Given the description of an element on the screen output the (x, y) to click on. 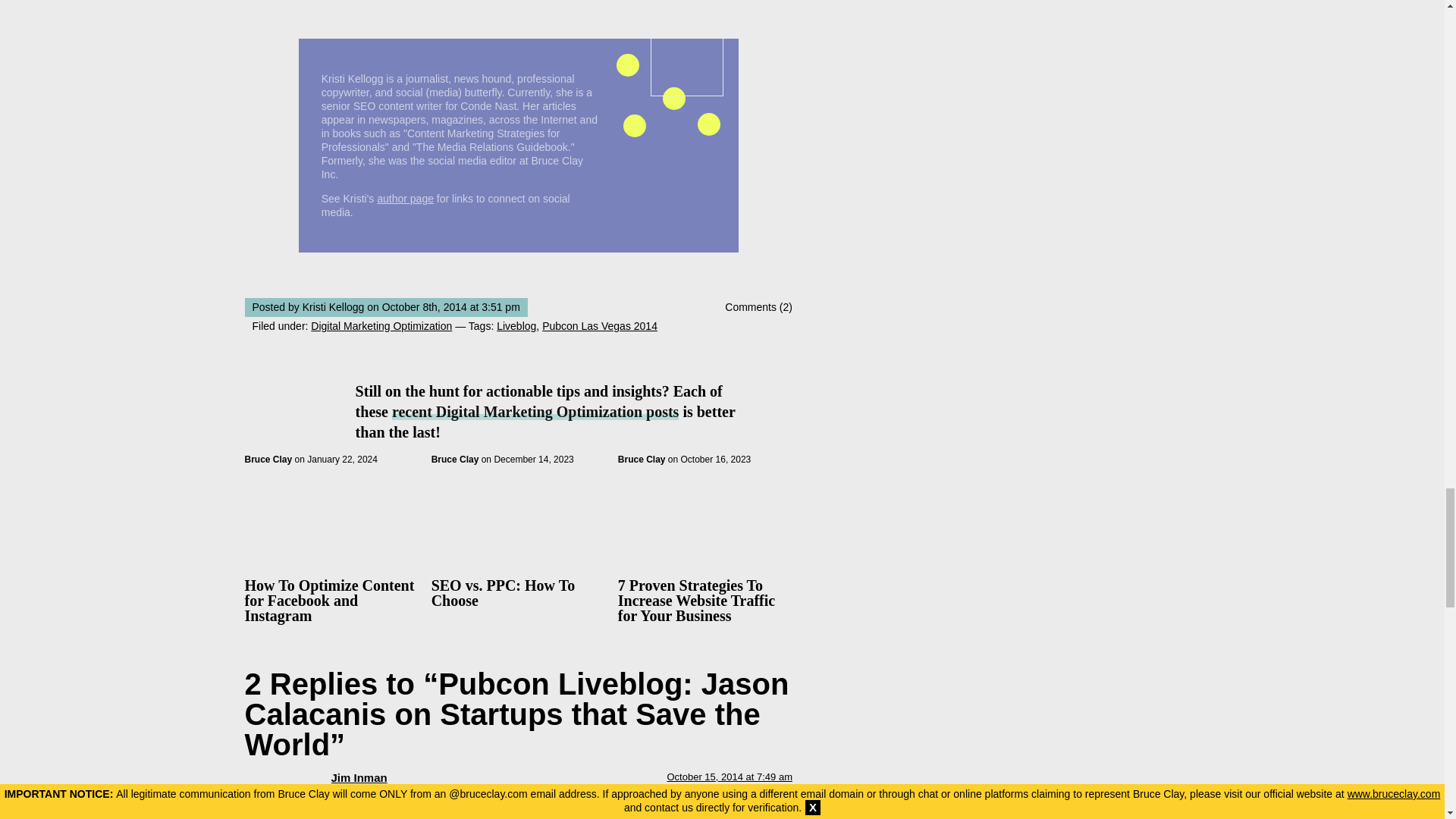
Pubcon Las Vegas 2014 (599, 326)
author page (405, 198)
Liveblog (515, 326)
October 15, 2014 at 7:49 am (729, 776)
recent Digital Marketing Optimization posts (534, 411)
Digital Marketing Optimization (381, 326)
SEO vs. PPC: How To Choose (502, 593)
How To Optimize Content for Facebook and Instagram (328, 600)
